Given the description of an element on the screen output the (x, y) to click on. 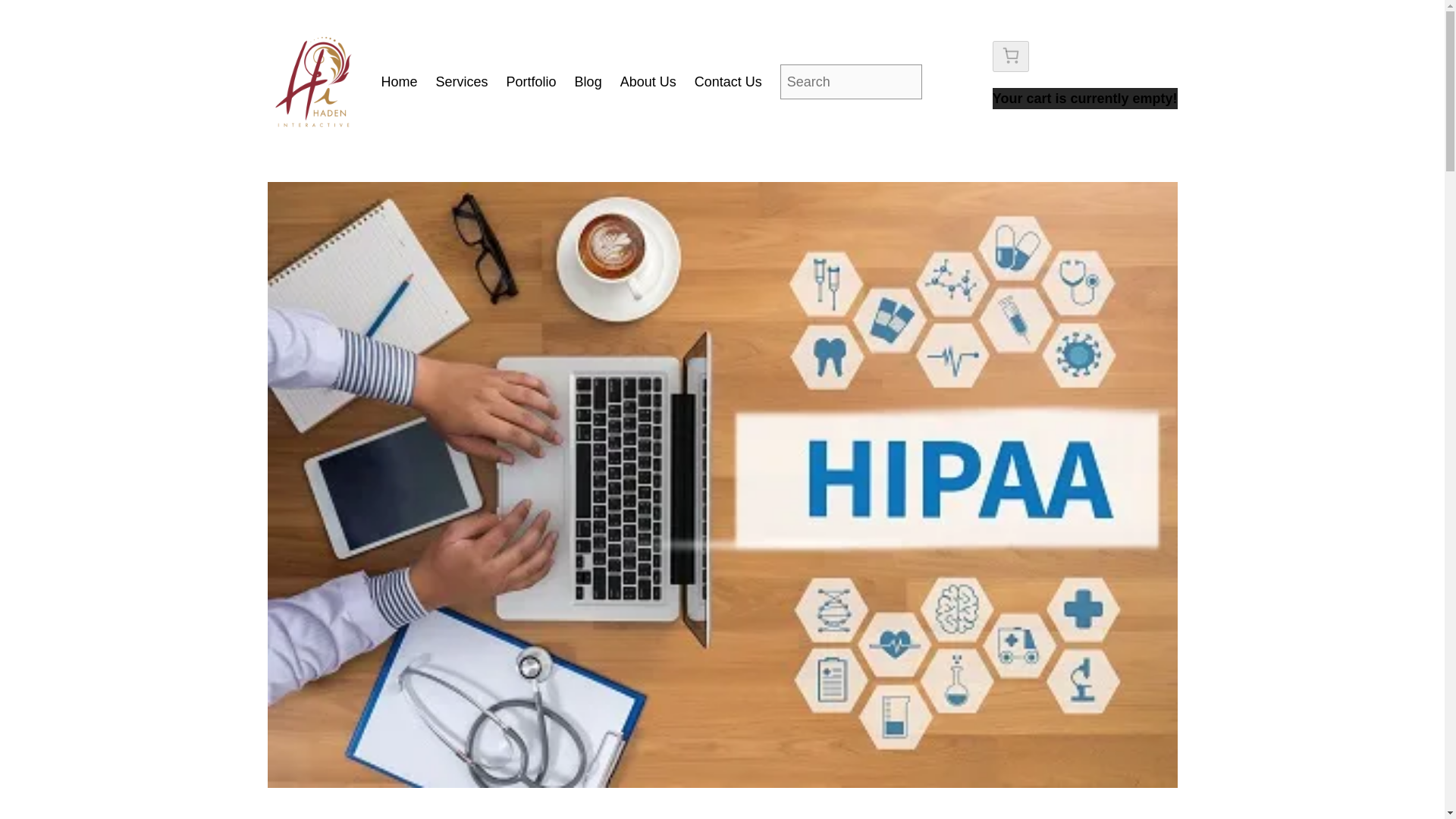
About Us (648, 82)
Contact Us (727, 82)
Blog (588, 82)
Home (399, 82)
Services (461, 82)
Portfolio (531, 82)
